Given the description of an element on the screen output the (x, y) to click on. 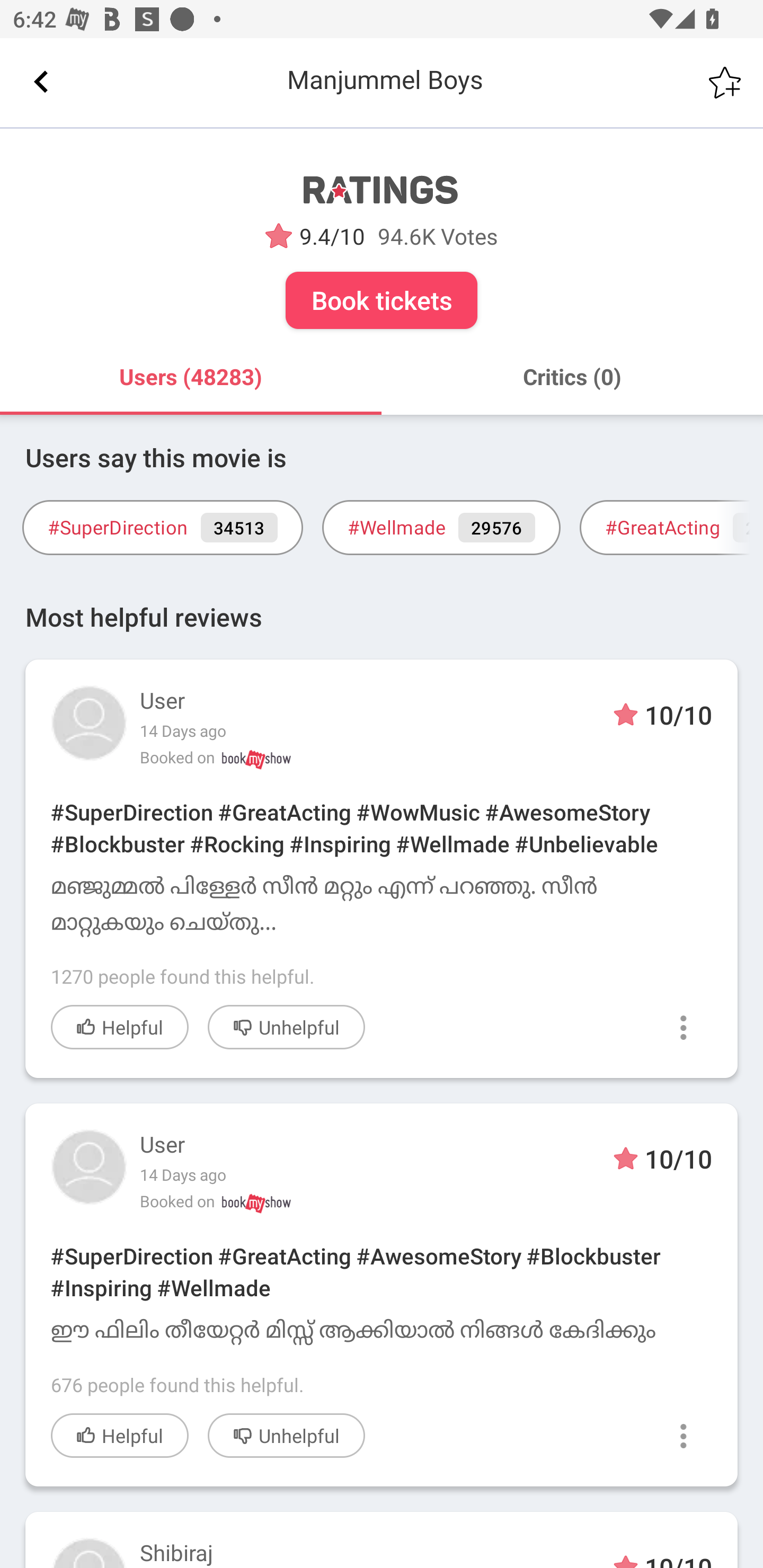
Back (41, 82)
Book tickets (381, 299)
Critics (0) (572, 376)
#SuperDirection 34513 (162, 527)
#Wellmade 29576 (440, 527)
#GreatActing 27297 (671, 527)
Helpful (119, 1026)
Unhelpful (285, 1026)
Helpful (119, 1435)
Unhelpful (285, 1435)
